Given the description of an element on the screen output the (x, y) to click on. 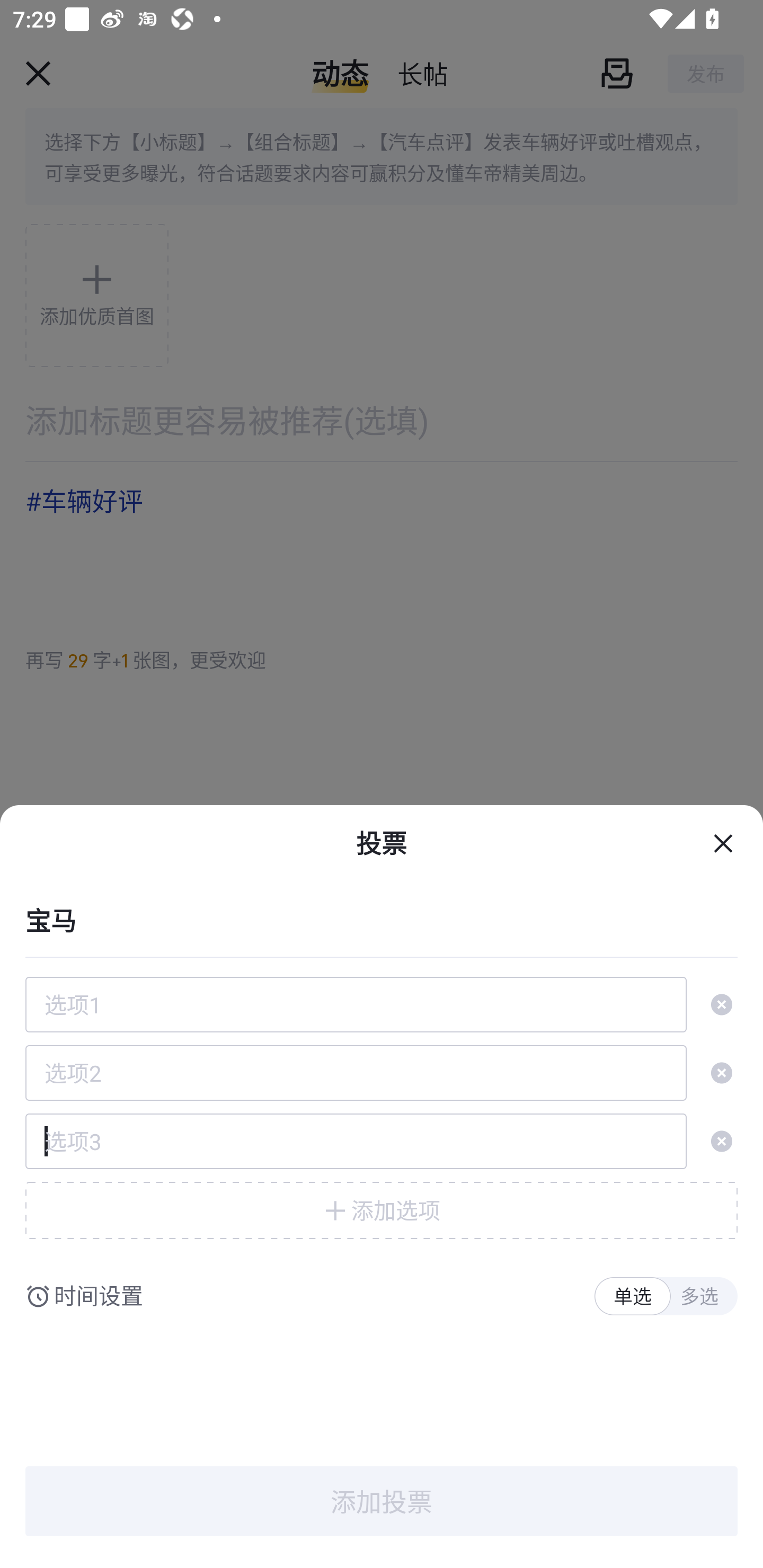
宝马 (381, 918)
选项1 (355, 1003)
选项2 (355, 1072)
选项3 (355, 1141)
添加选项 (381, 1210)
单选 (632, 1296)
多选 (699, 1296)
时间设置 (98, 1296)
